Given the description of an element on the screen output the (x, y) to click on. 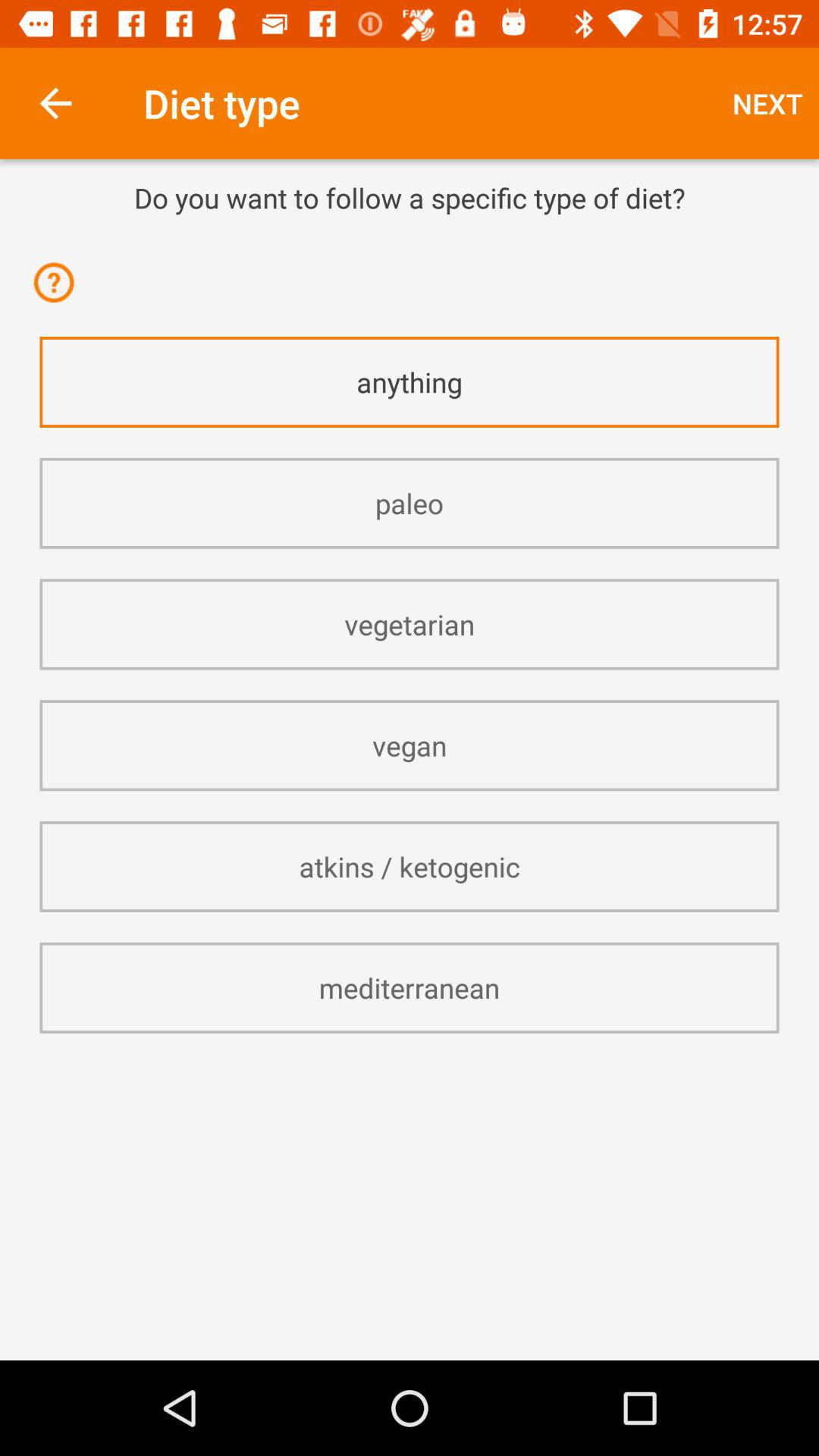
turn off the item above the do you want item (767, 103)
